Given the description of an element on the screen output the (x, y) to click on. 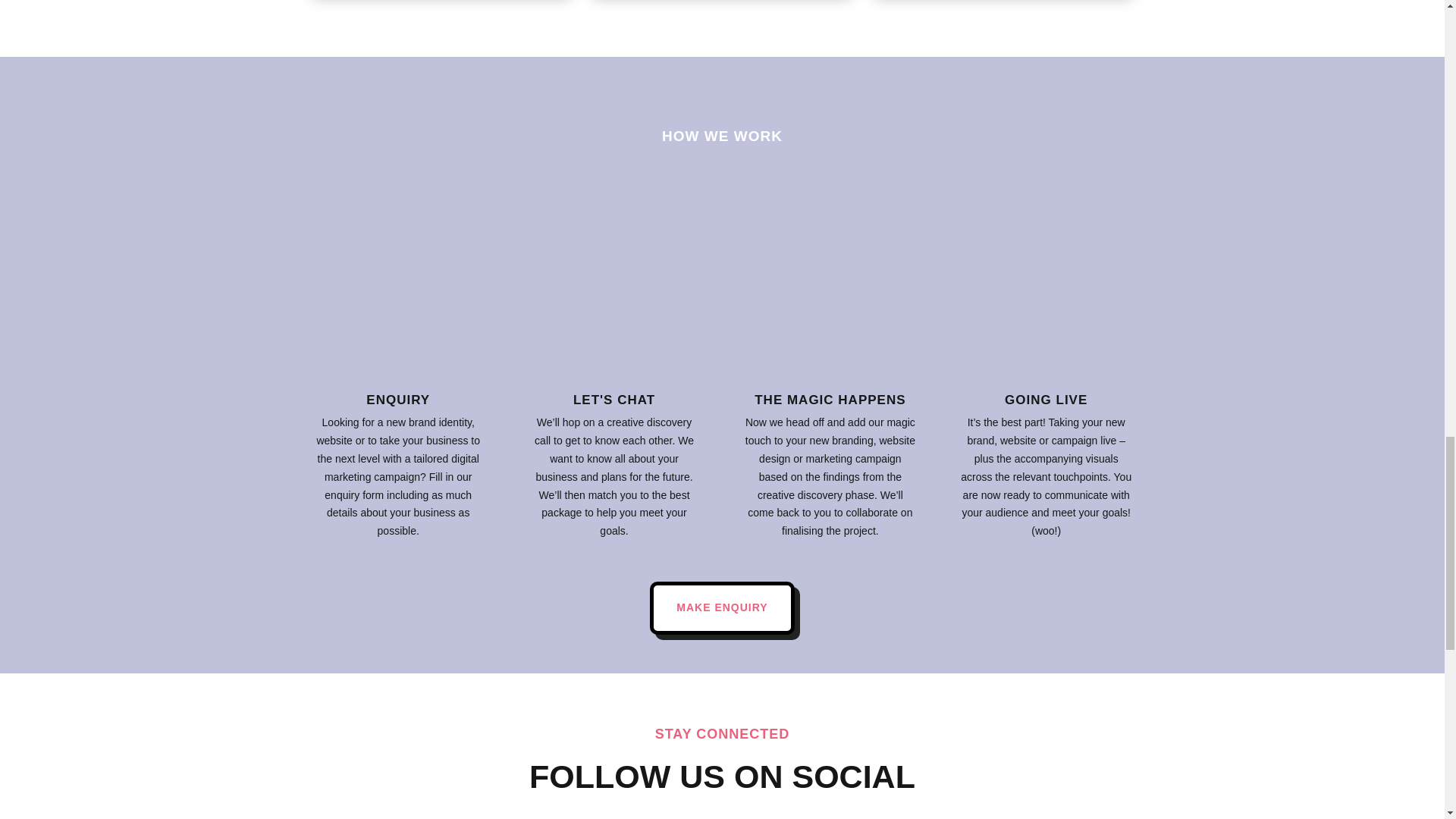
Follow on TikTok (766, 816)
Follow on X (706, 816)
Follow on Facebook (675, 816)
Follow on Instagram (737, 816)
